Given the description of an element on the screen output the (x, y) to click on. 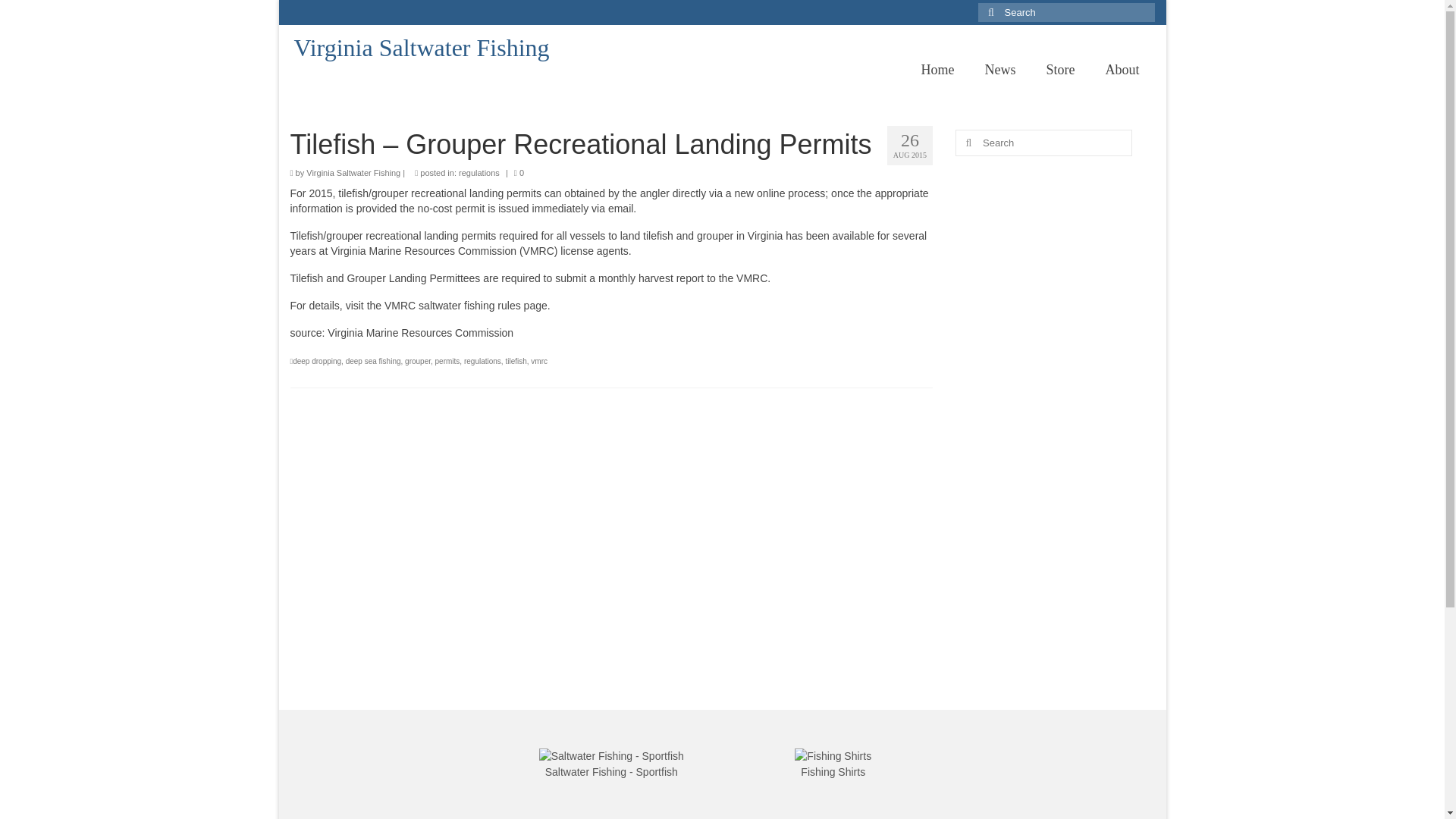
vmrc (539, 361)
About (1122, 69)
Fishing Shirts (832, 771)
Virginia Saltwater Fishing (352, 172)
Home (937, 69)
Store (1060, 69)
grouper (417, 361)
regulations (478, 172)
deep dropping (316, 361)
regulations (482, 361)
